Given the description of an element on the screen output the (x, y) to click on. 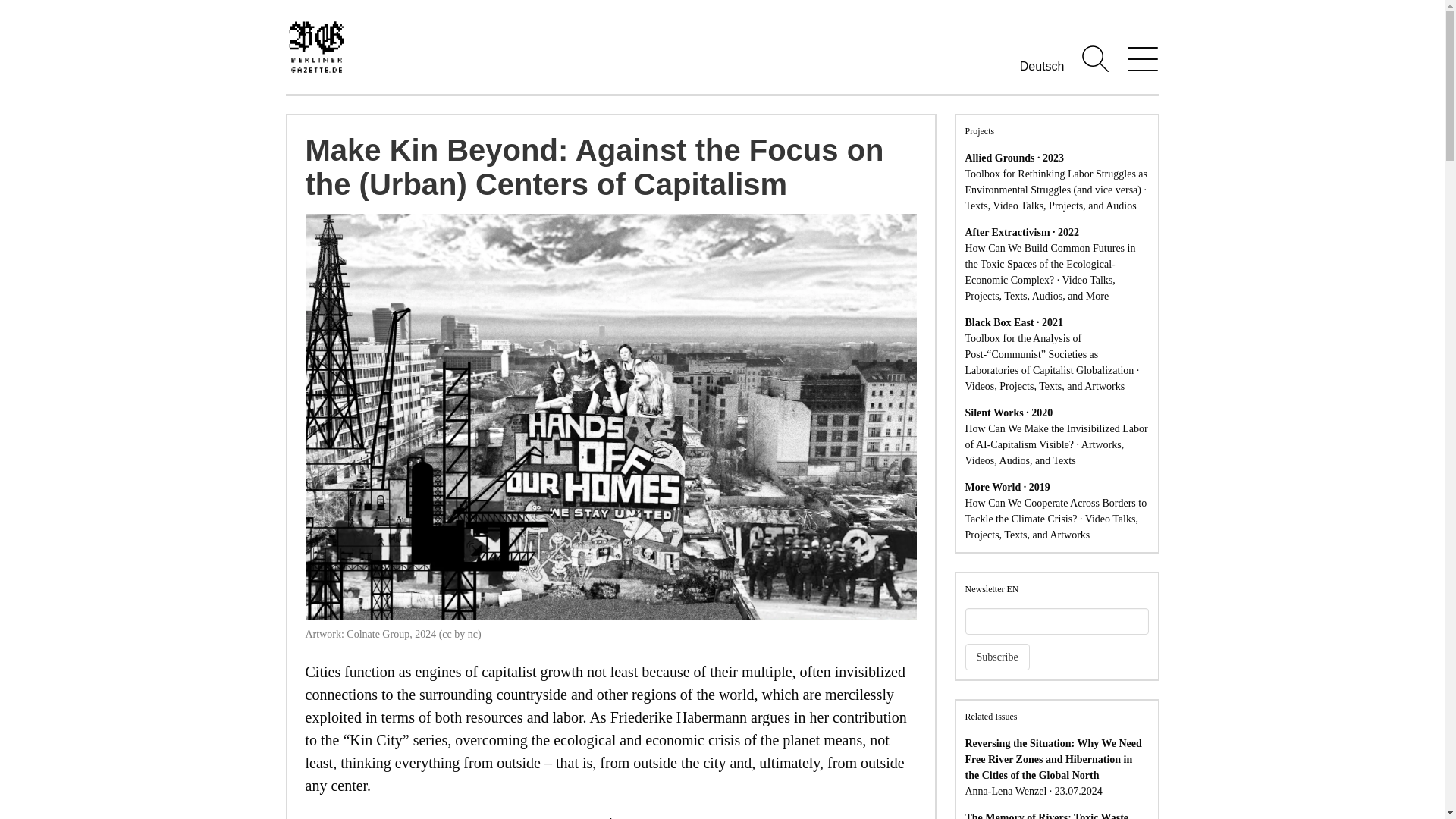
Deutsch (1042, 65)
Subscribe (996, 656)
